Given the description of an element on the screen output the (x, y) to click on. 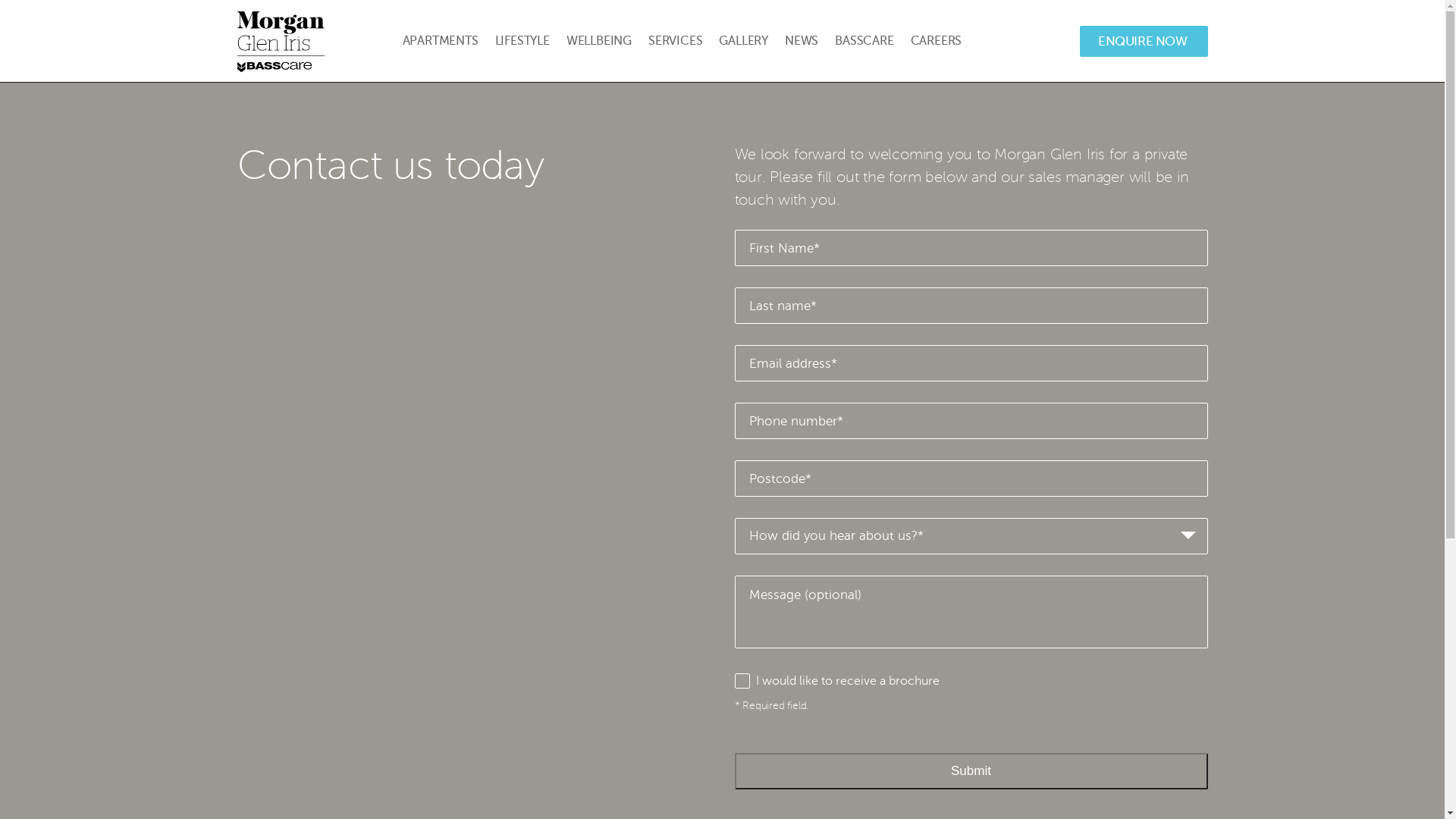
ENQUIRE NOW Element type: text (1143, 40)
SERVICES Element type: text (675, 40)
APARTMENTS Element type: text (439, 40)
Submit Element type: text (970, 771)
CAREERS Element type: text (936, 40)
WELLBEING Element type: text (598, 40)
GALLERY Element type: text (743, 40)
NEWS Element type: text (801, 40)
LIFESTYLE Element type: text (521, 40)
BASSCARE Element type: text (863, 40)
